Given the description of an element on the screen output the (x, y) to click on. 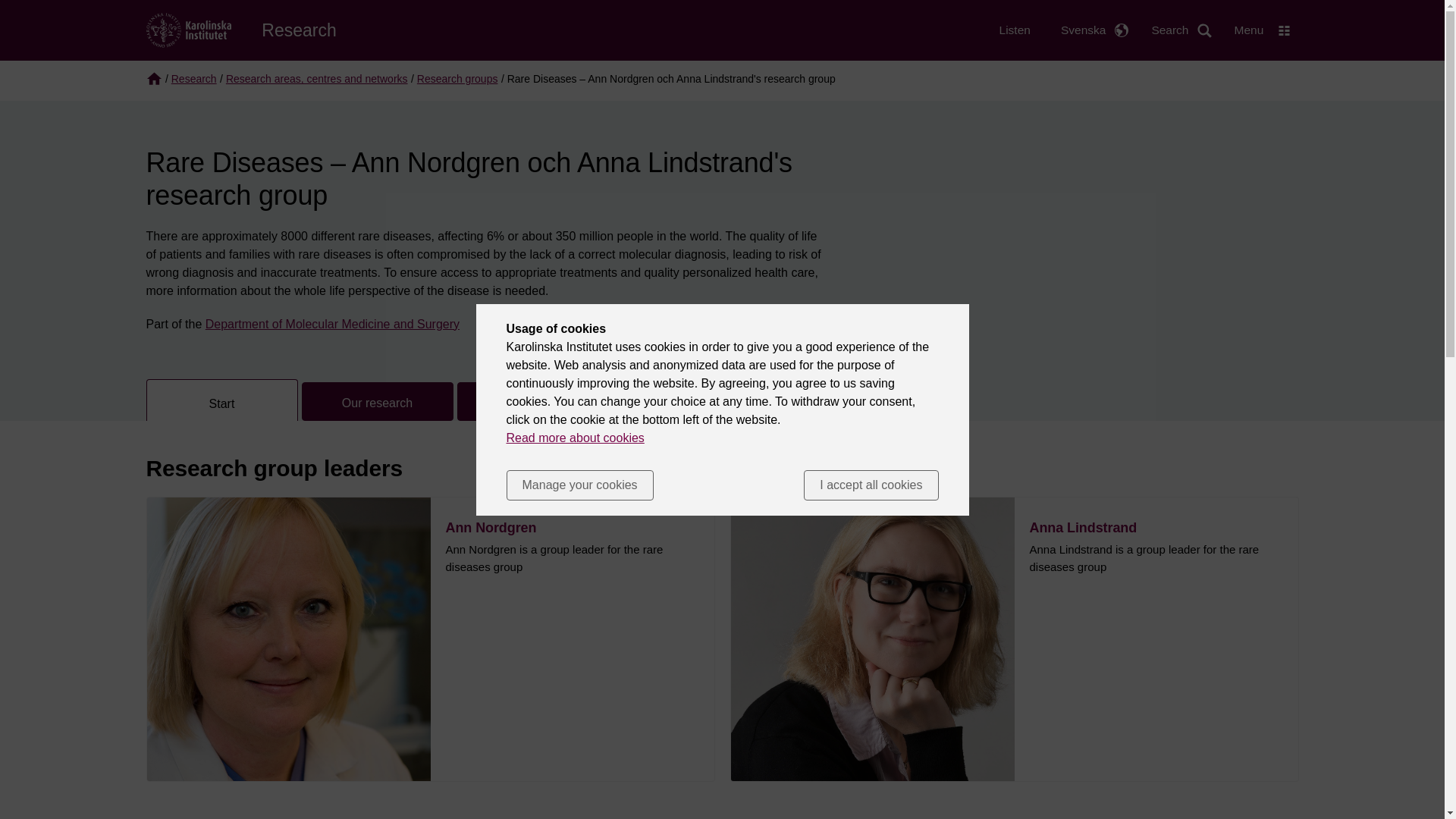
Listen (1014, 30)
Home (188, 29)
Research groups (456, 78)
Research areas, centres and networks (316, 78)
Research (299, 29)
Department of Molecular Medicine and Surgery (332, 323)
Start (221, 399)
Our research (376, 401)
Research (193, 78)
Staff and contact (532, 401)
